Given the description of an element on the screen output the (x, y) to click on. 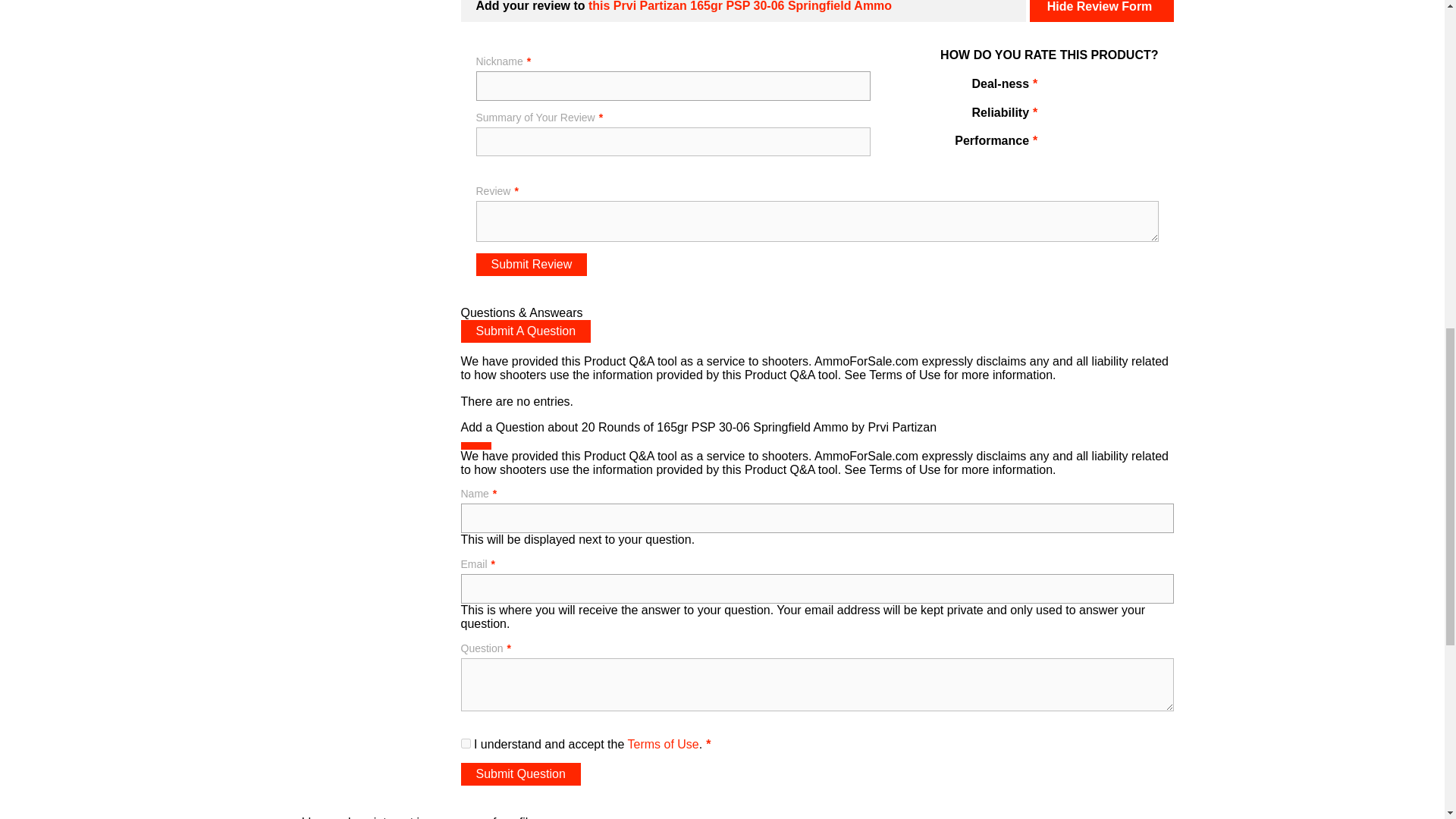
2 (1080, 115)
4 (1123, 87)
2 (1080, 87)
1 (1059, 87)
5 (1144, 87)
on (465, 743)
3 (1101, 115)
3 (1101, 87)
1 (1059, 115)
